Given the description of an element on the screen output the (x, y) to click on. 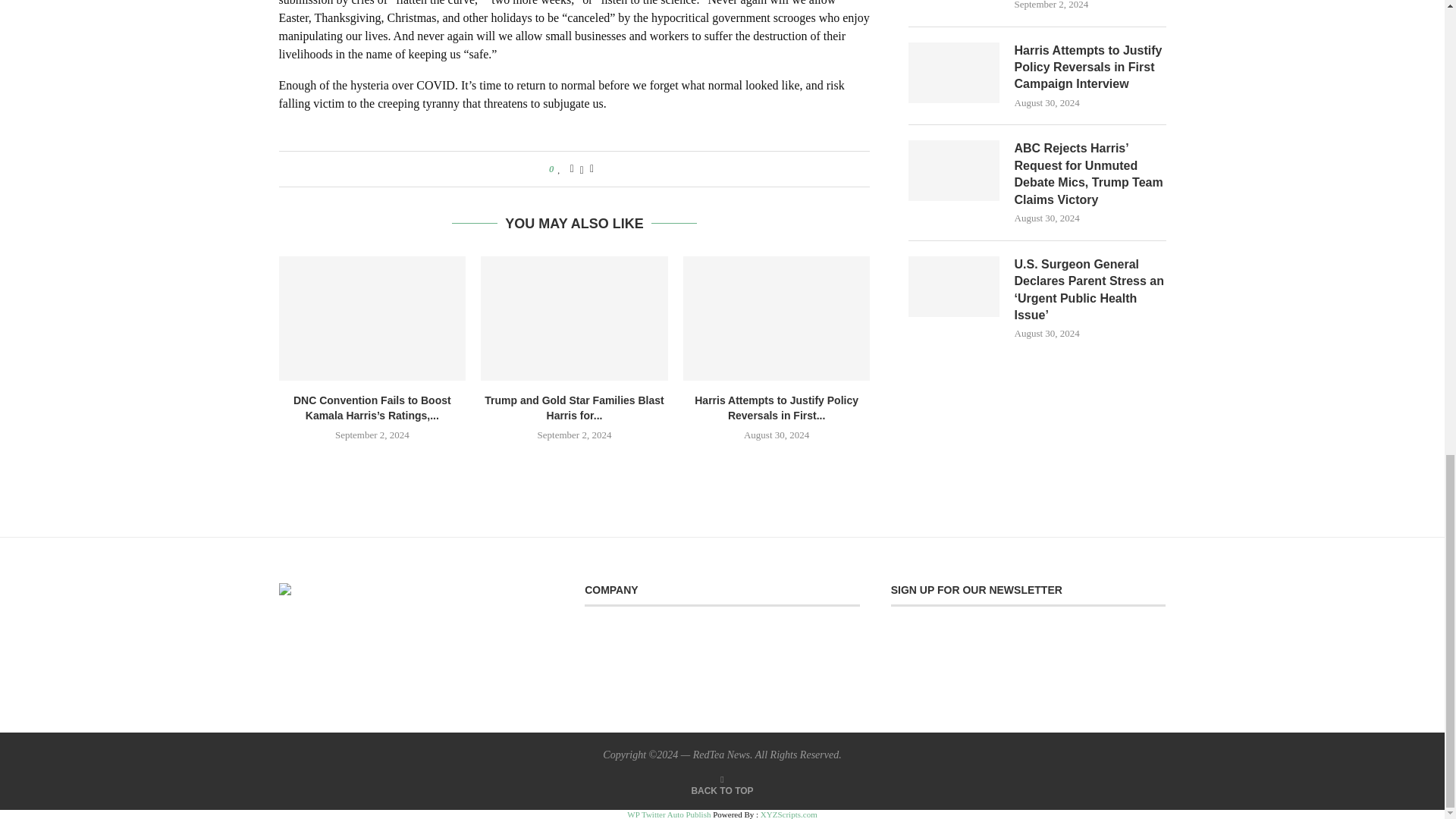
Trump and Gold Star Families Blast Harris for... (573, 407)
